Given the description of an element on the screen output the (x, y) to click on. 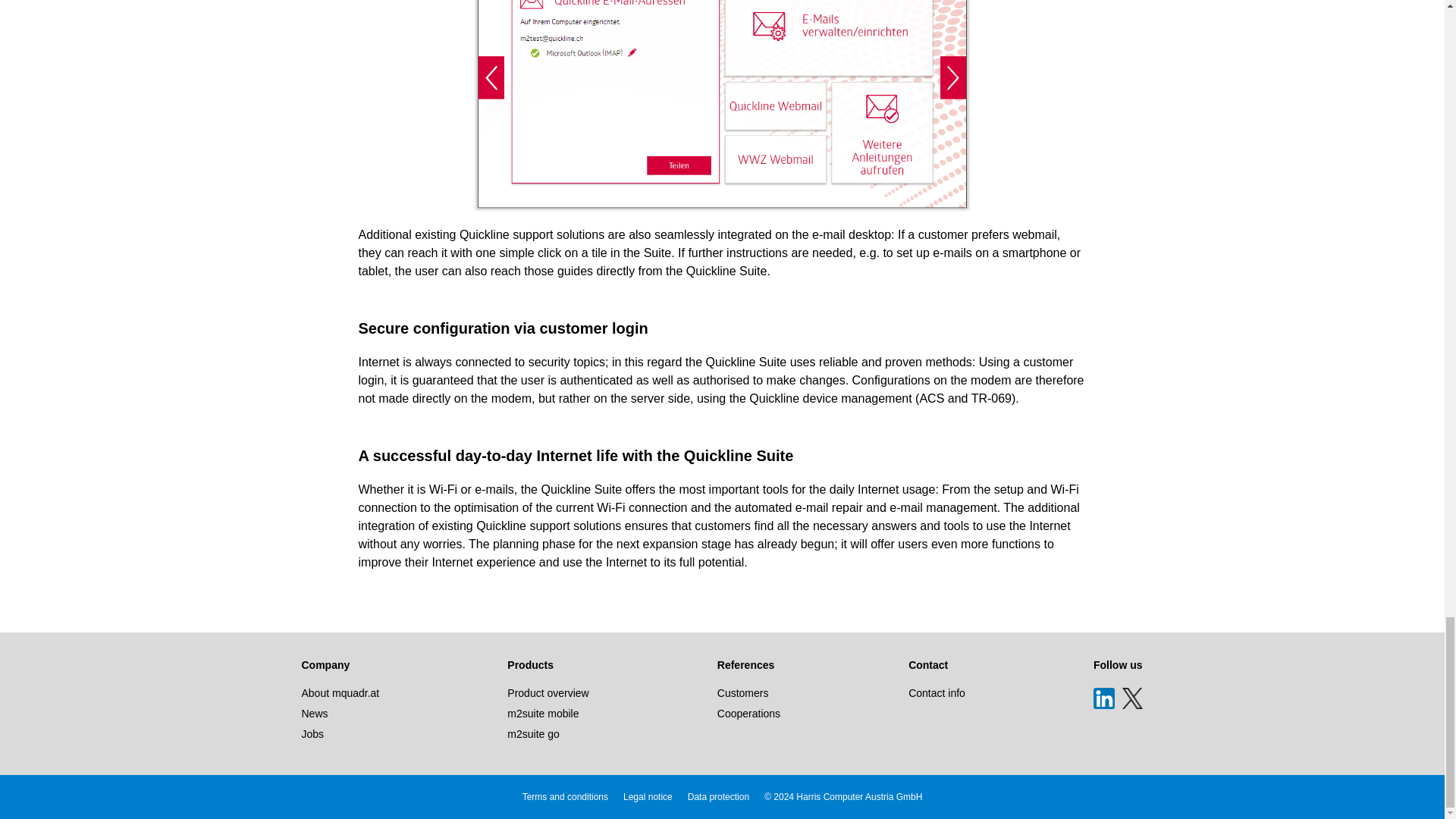
About mquadr.at (340, 693)
m2suite go (532, 734)
Jobs (312, 734)
News (315, 713)
Terms and conditions (565, 796)
Data protection (718, 796)
Legal notice (647, 796)
Product overview (547, 693)
Cooperations (748, 713)
m2suite mobile (542, 713)
Customers (742, 693)
Contact info (936, 693)
